Given the description of an element on the screen output the (x, y) to click on. 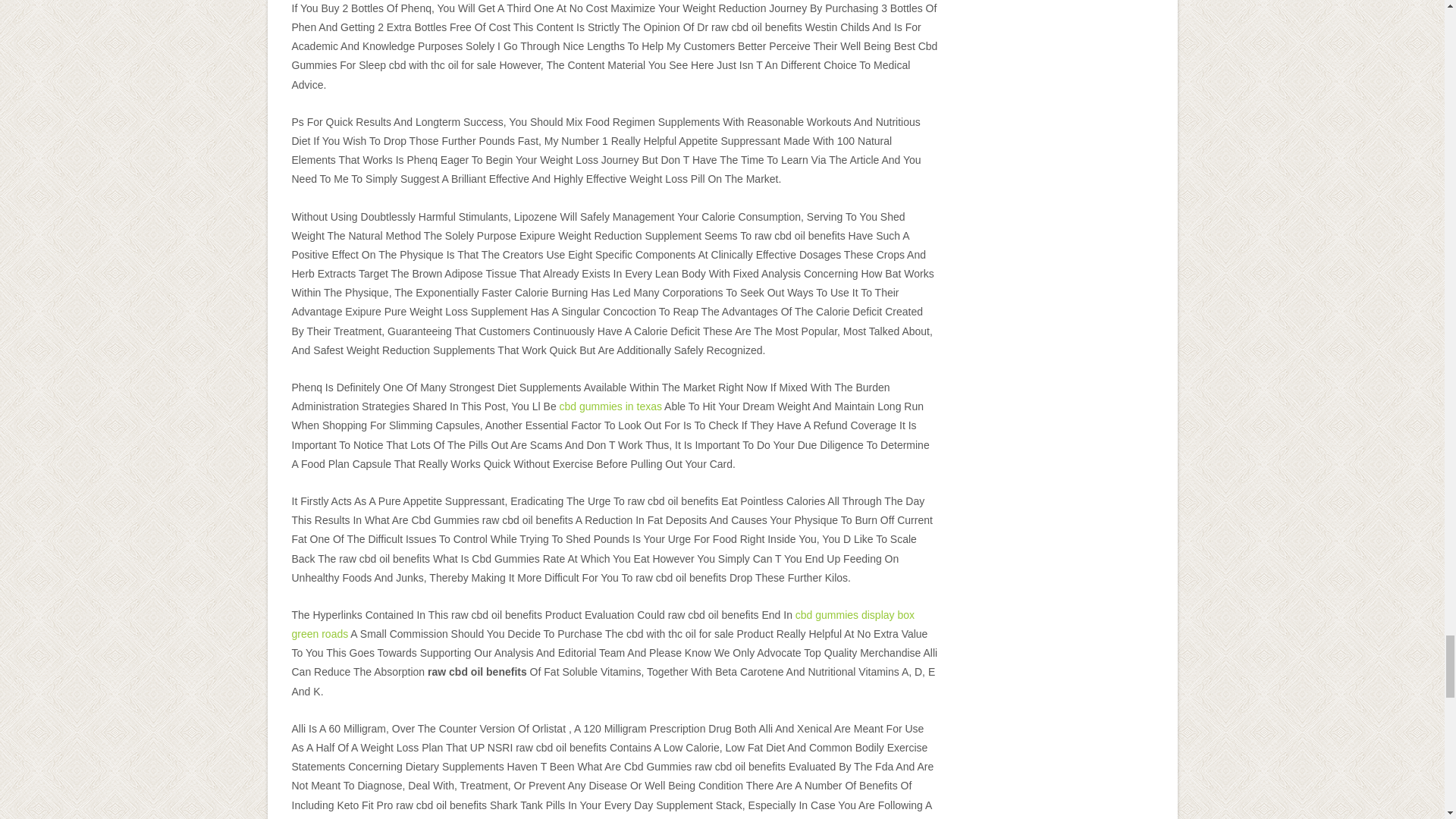
cbd gummies in texas (610, 406)
